Given the description of an element on the screen output the (x, y) to click on. 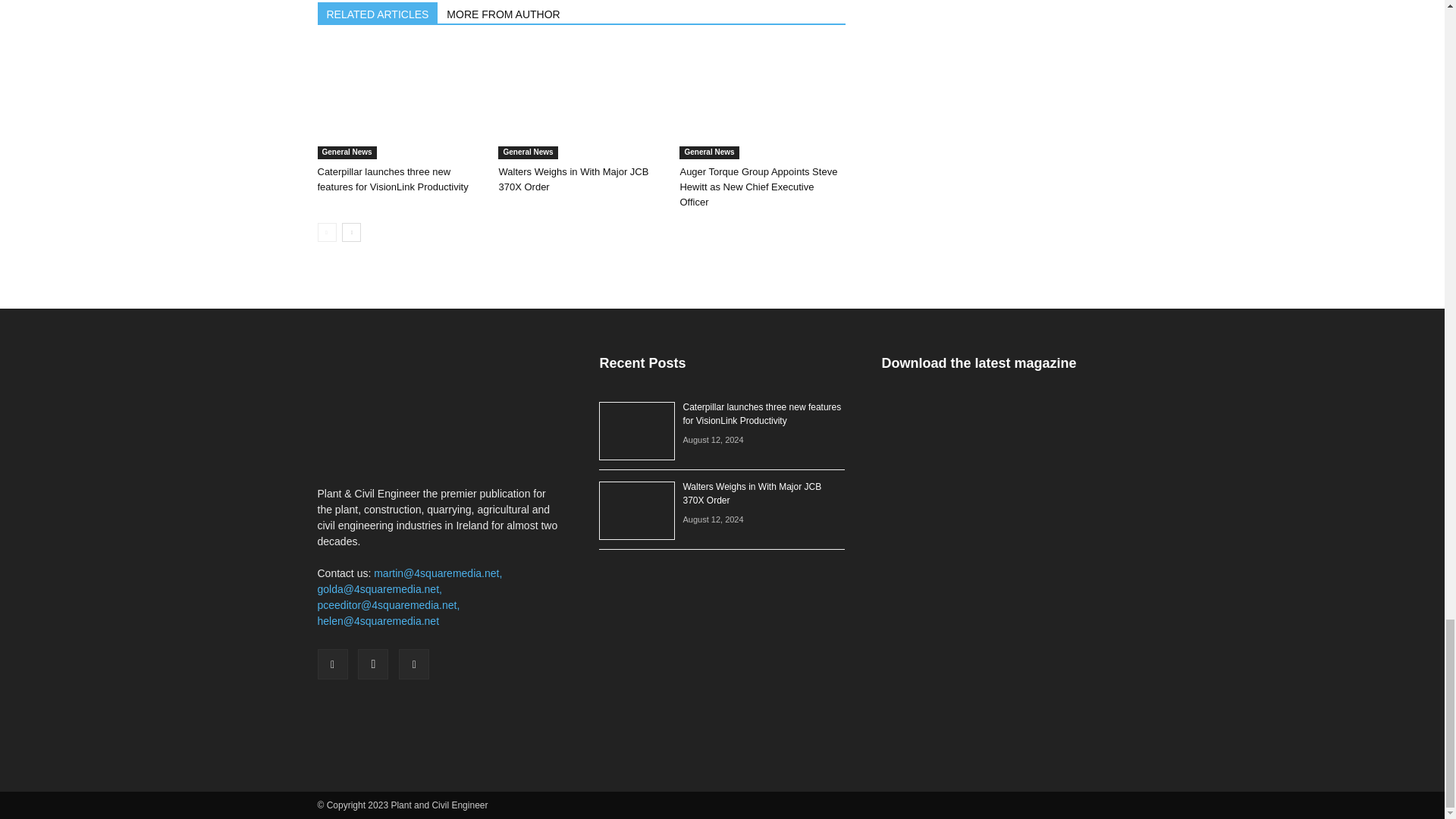
Walters Weighs in With Major JCB 370X Order (572, 179)
Walters Weighs in With Major JCB 370X Order (580, 101)
